Given the description of an element on the screen output the (x, y) to click on. 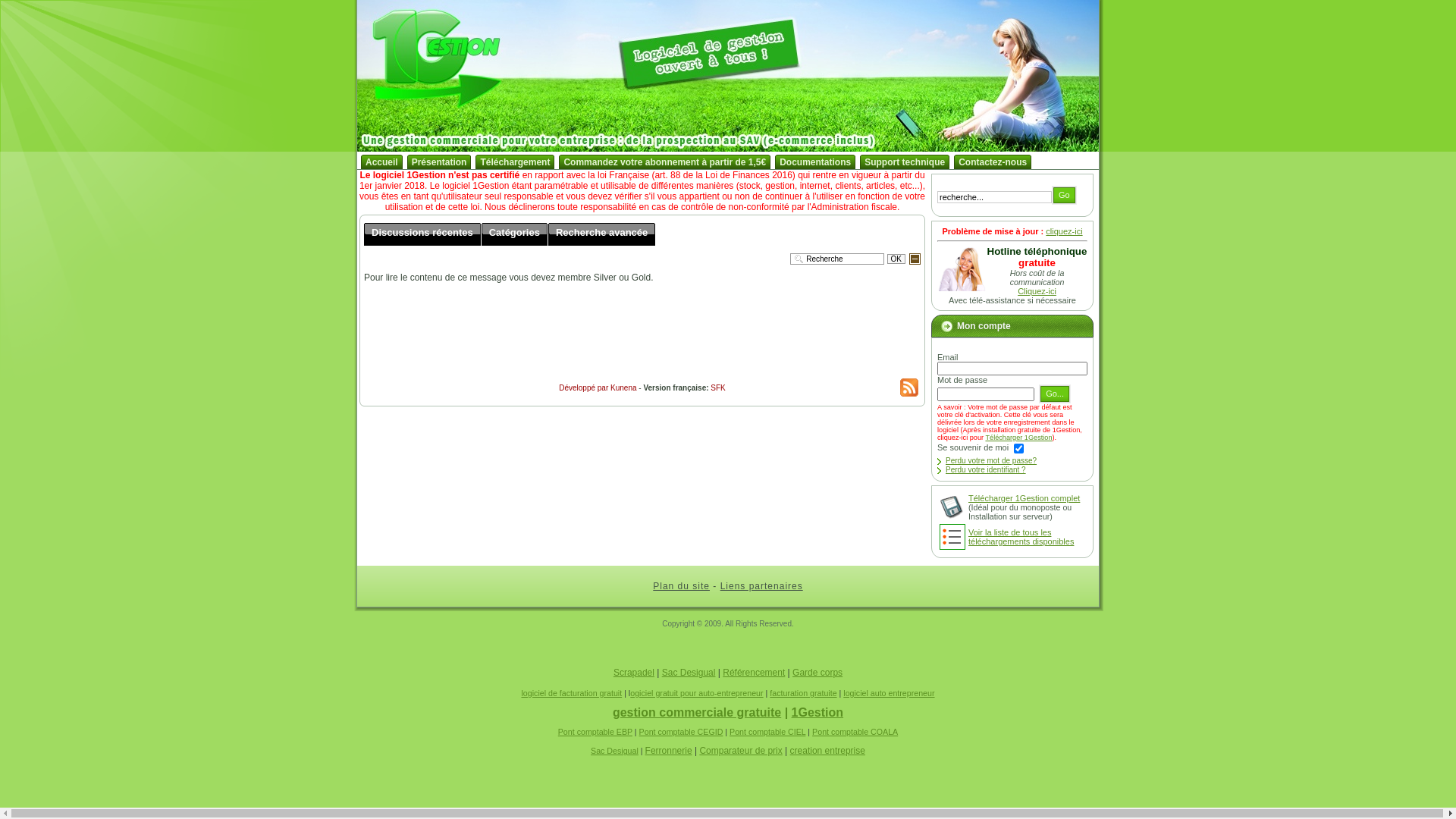
Ferronnerie Element type: text (668, 750)
facturation gratuite Element type: text (802, 692)
Go... Element type: text (1054, 393)
Cliquez-ici Element type: text (1036, 290)
Accueil Element type: text (381, 161)
Pont comptable COALA Element type: text (854, 731)
Liens partenaires Element type: text (761, 585)
1Gestion Element type: text (817, 712)
gestion commerciale gratuite Element type: text (696, 712)
Go Element type: text (1063, 194)
OK Element type: text (896, 258)
Support technique Element type: text (904, 161)
Obtenir les derniers messages directement sur votre PC Element type: hover (909, 387)
Sac Desigual Element type: text (614, 750)
logiciel de facturation gratuit Element type: text (570, 692)
Pont comptable CIEL Element type: text (767, 731)
Pont comptable EBP Element type: text (595, 731)
SFK Element type: text (717, 387)
Perdu votre mot de passe? Element type: text (990, 460)
Sac Desigual Element type: text (688, 672)
Pont comptable CEGID Element type: text (681, 731)
Scrapadel Element type: text (633, 672)
creation entreprise Element type: text (827, 750)
Plan du site Element type: text (680, 585)
Documentations Element type: text (815, 161)
Kunena Element type: text (623, 387)
logiciel auto entrepreneur Element type: text (888, 692)
Contactez-nous Element type: text (992, 161)
Comparateur de prix Element type: text (740, 750)
ogiciel gratuit pour auto-entrepreneur Element type: text (696, 692)
Perdu votre identifiant ? Element type: text (985, 469)
https://roulettegames.live/ Element type: text (51, 657)
cliquez-ici Element type: text (1063, 230)
Garde corps Element type: text (817, 672)
